Given the description of an element on the screen output the (x, y) to click on. 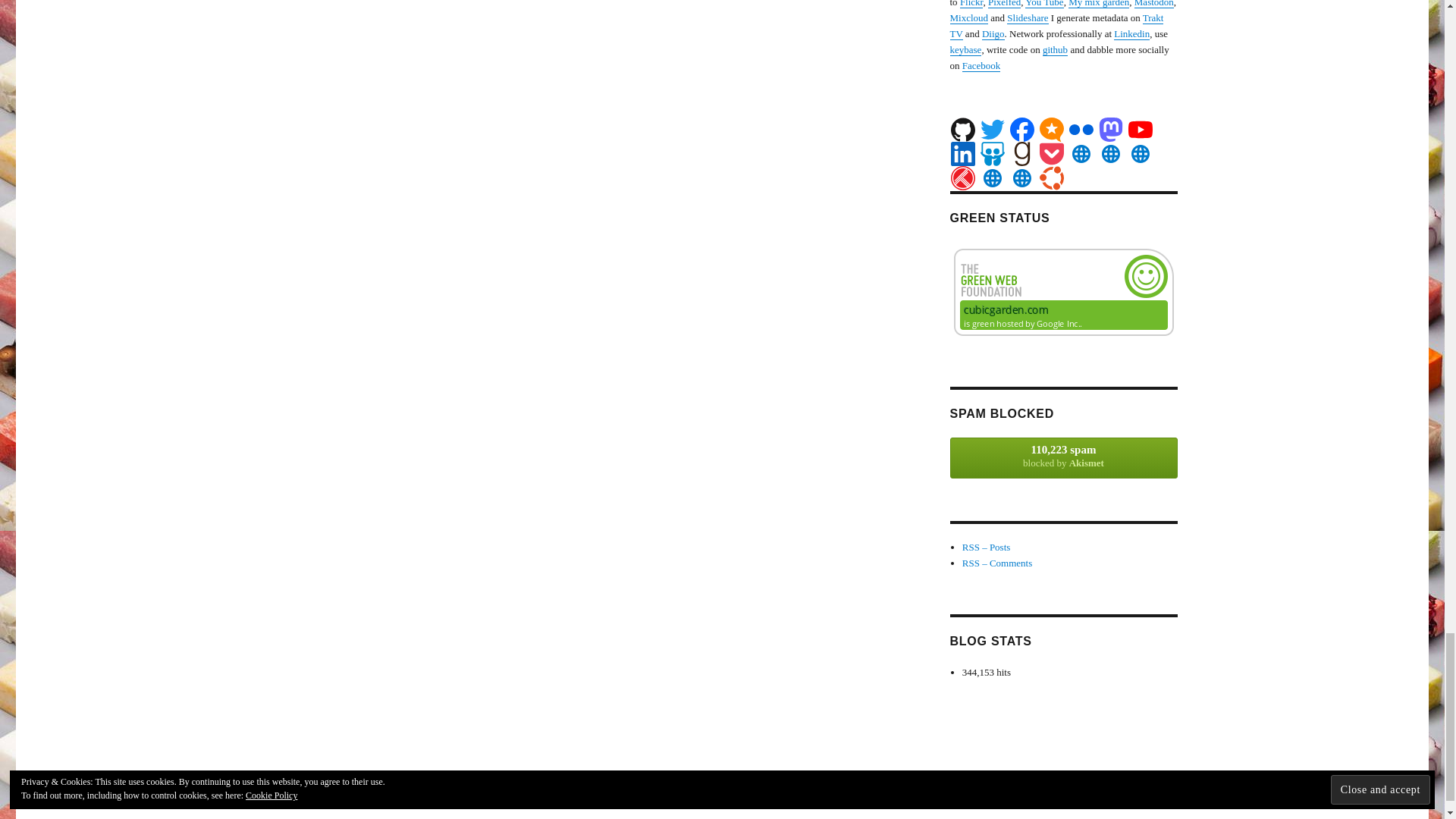
GitHub (962, 129)
Twitter (991, 129)
